Given the description of an element on the screen output the (x, y) to click on. 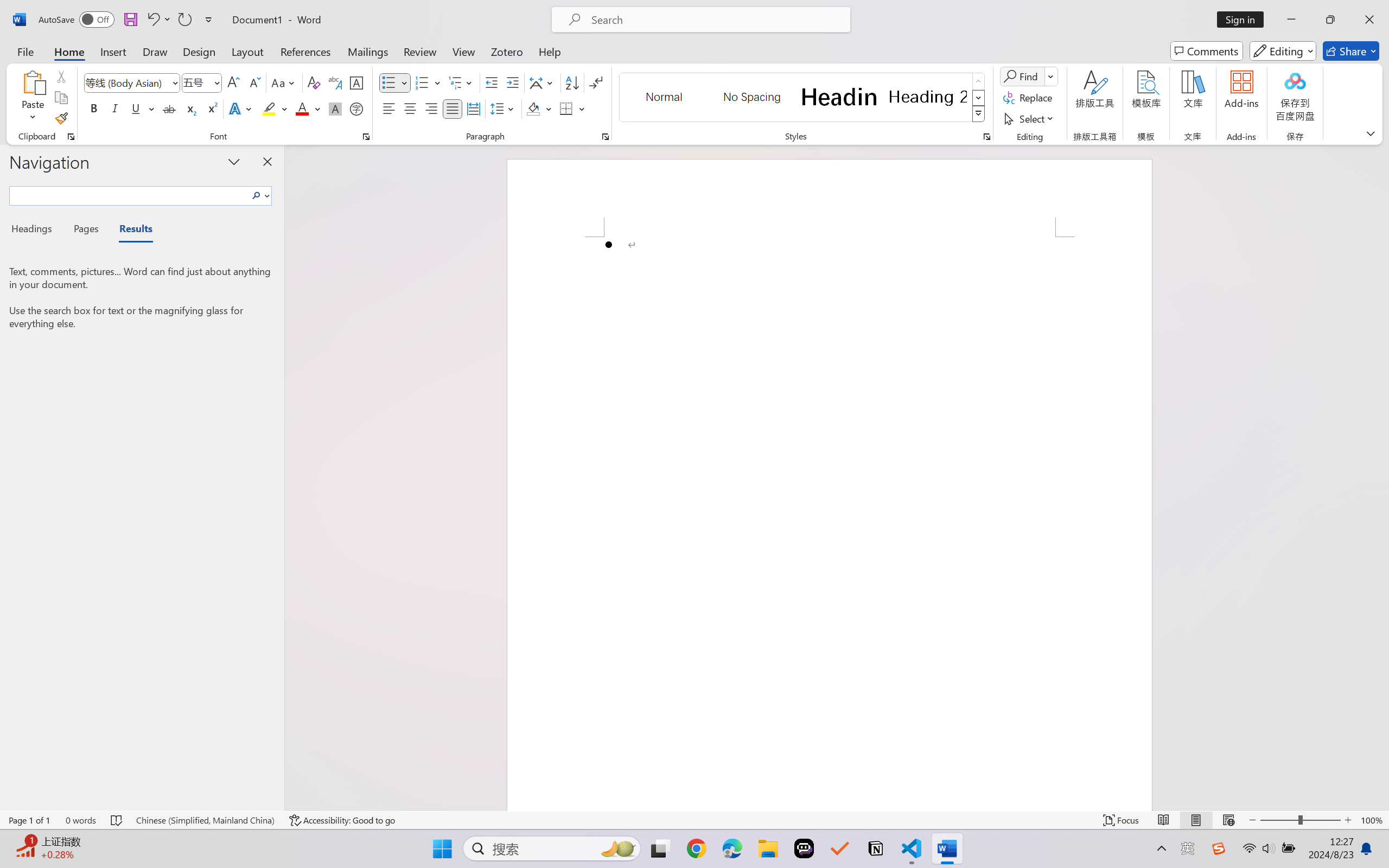
Pages (85, 229)
